Given the description of an element on the screen output the (x, y) to click on. 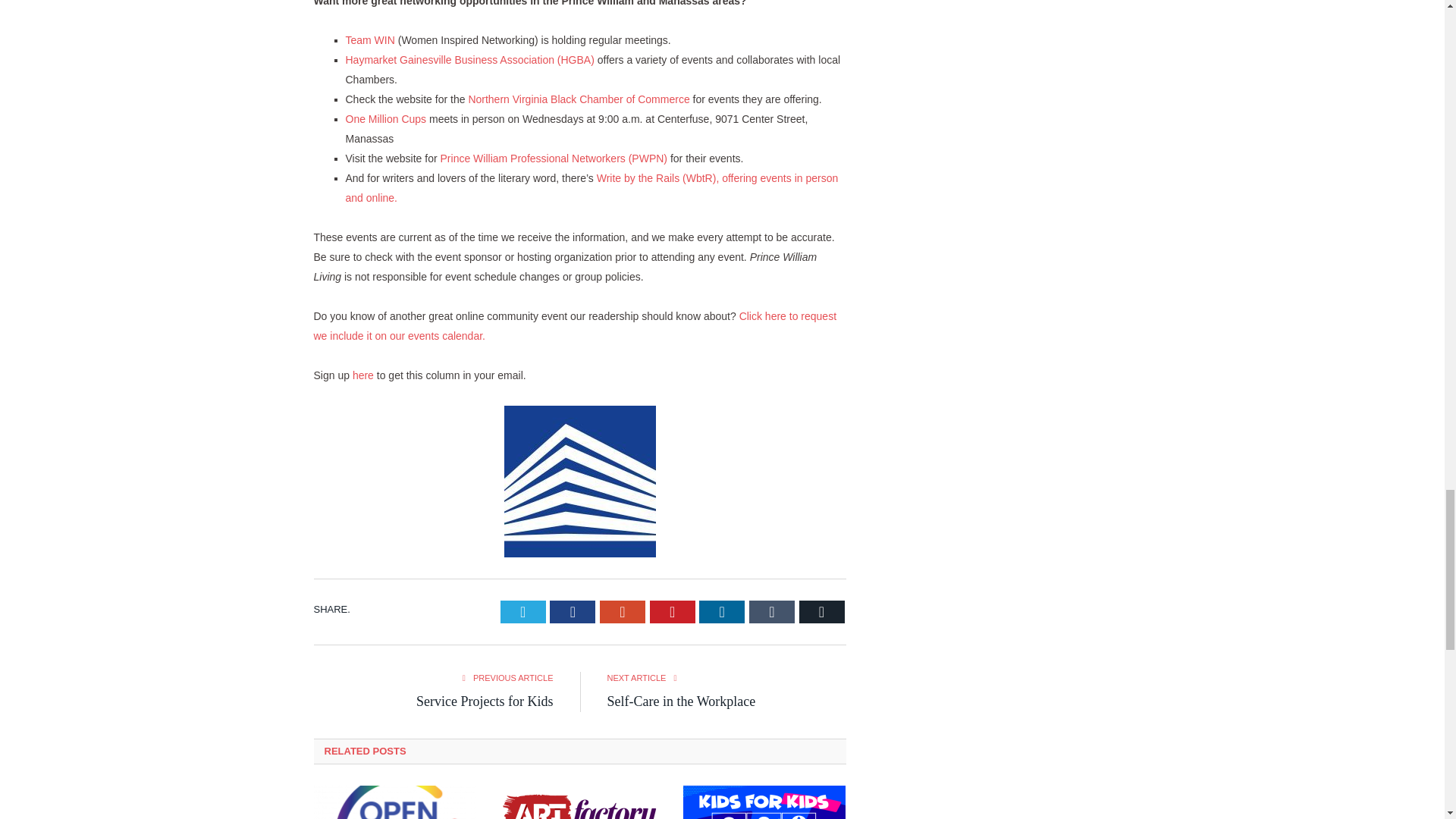
Kids for Kids Triathlon Sept. 15: Call for Volunteers (763, 802)
Experience the Paint Lounge! (579, 802)
